Given the description of an element on the screen output the (x, y) to click on. 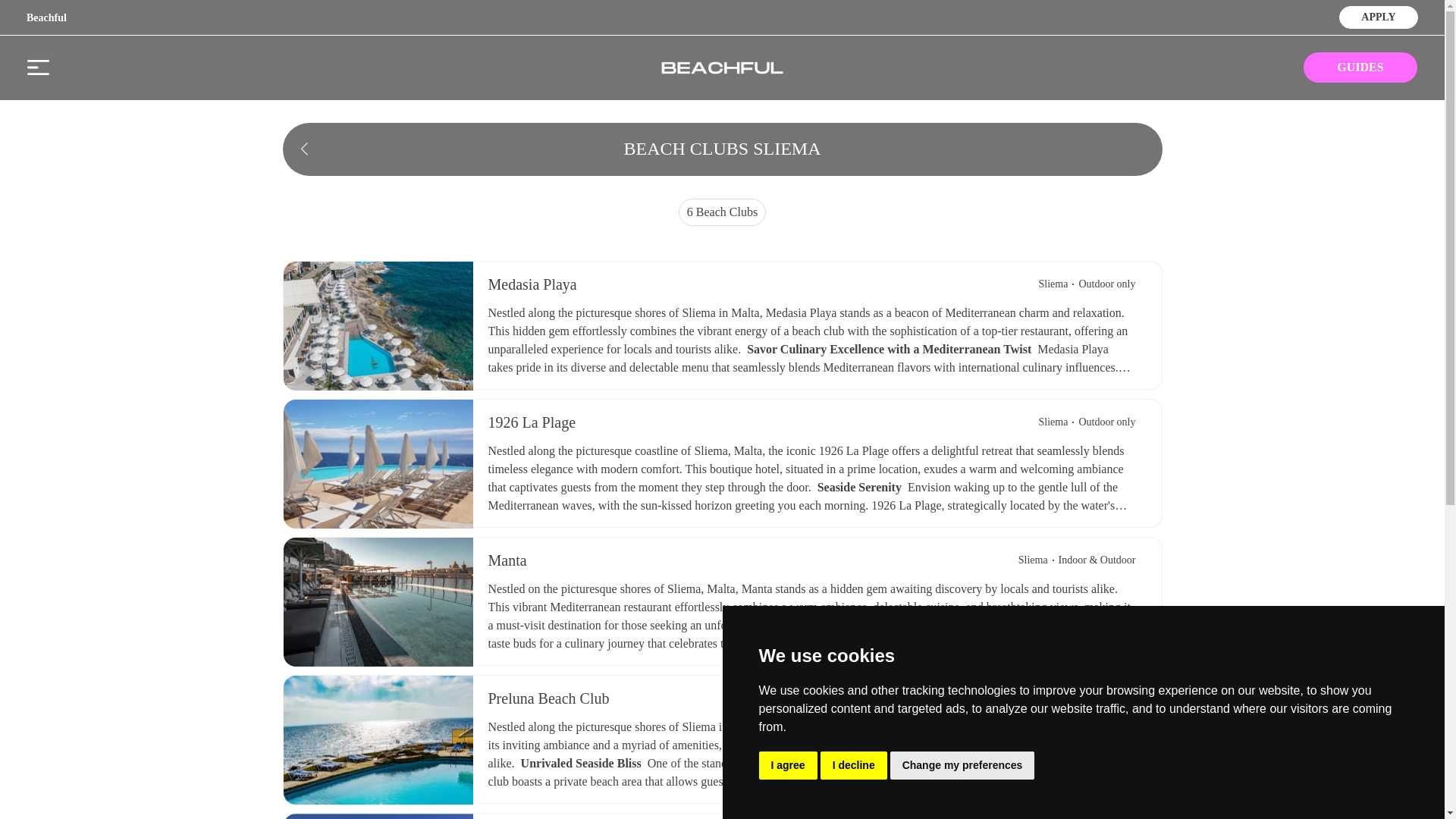
Beachful (46, 17)
GUIDES (1359, 67)
I decline (853, 765)
APPLY (1377, 15)
I agree (787, 765)
Change my preferences (962, 765)
